Given the description of an element on the screen output the (x, y) to click on. 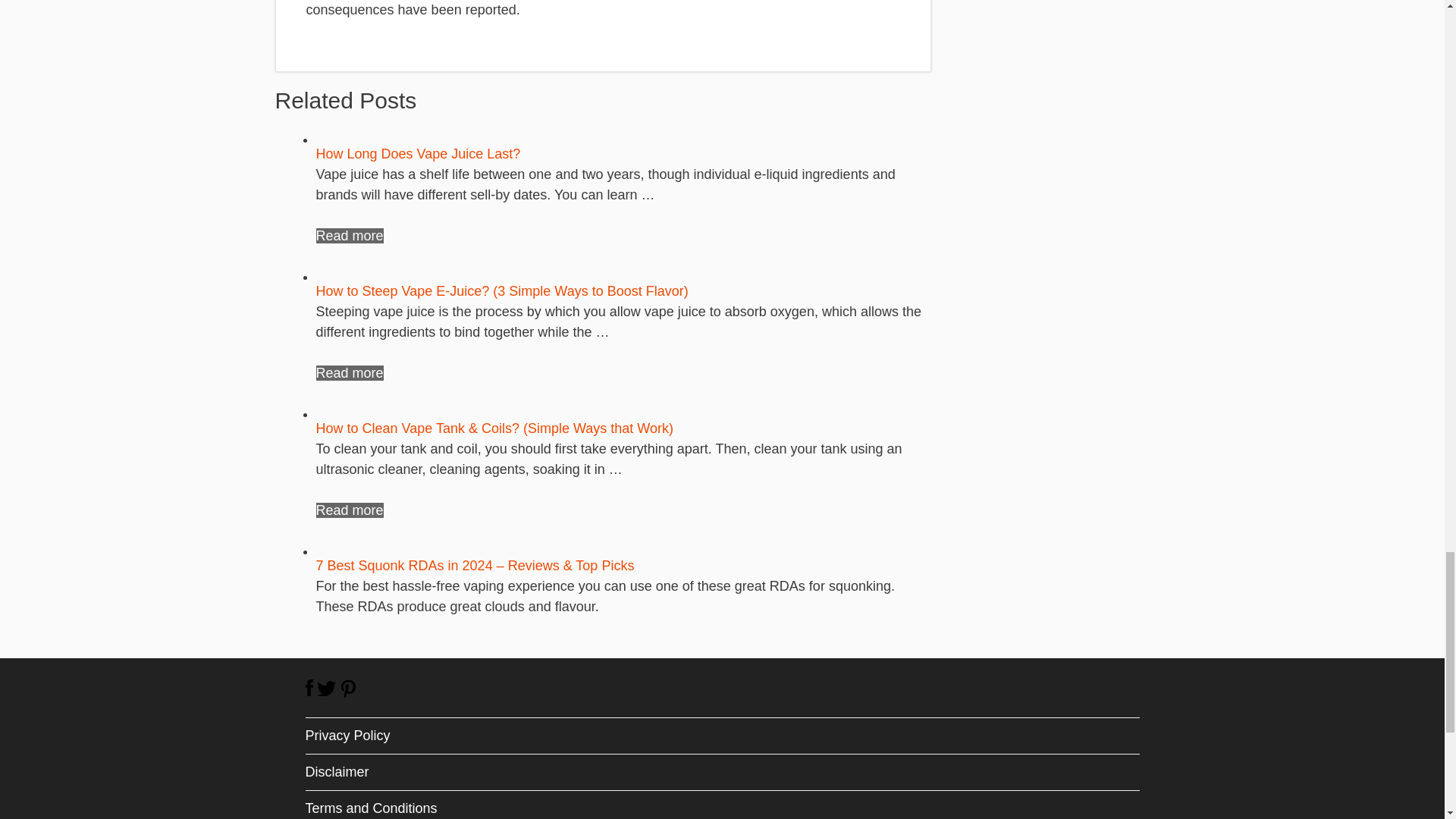
How Long Does Vape Juice Last? (417, 153)
Read more (348, 235)
Read more (348, 372)
Read more (348, 509)
How Long Does Vape Juice Last? (348, 235)
